Given the description of an element on the screen output the (x, y) to click on. 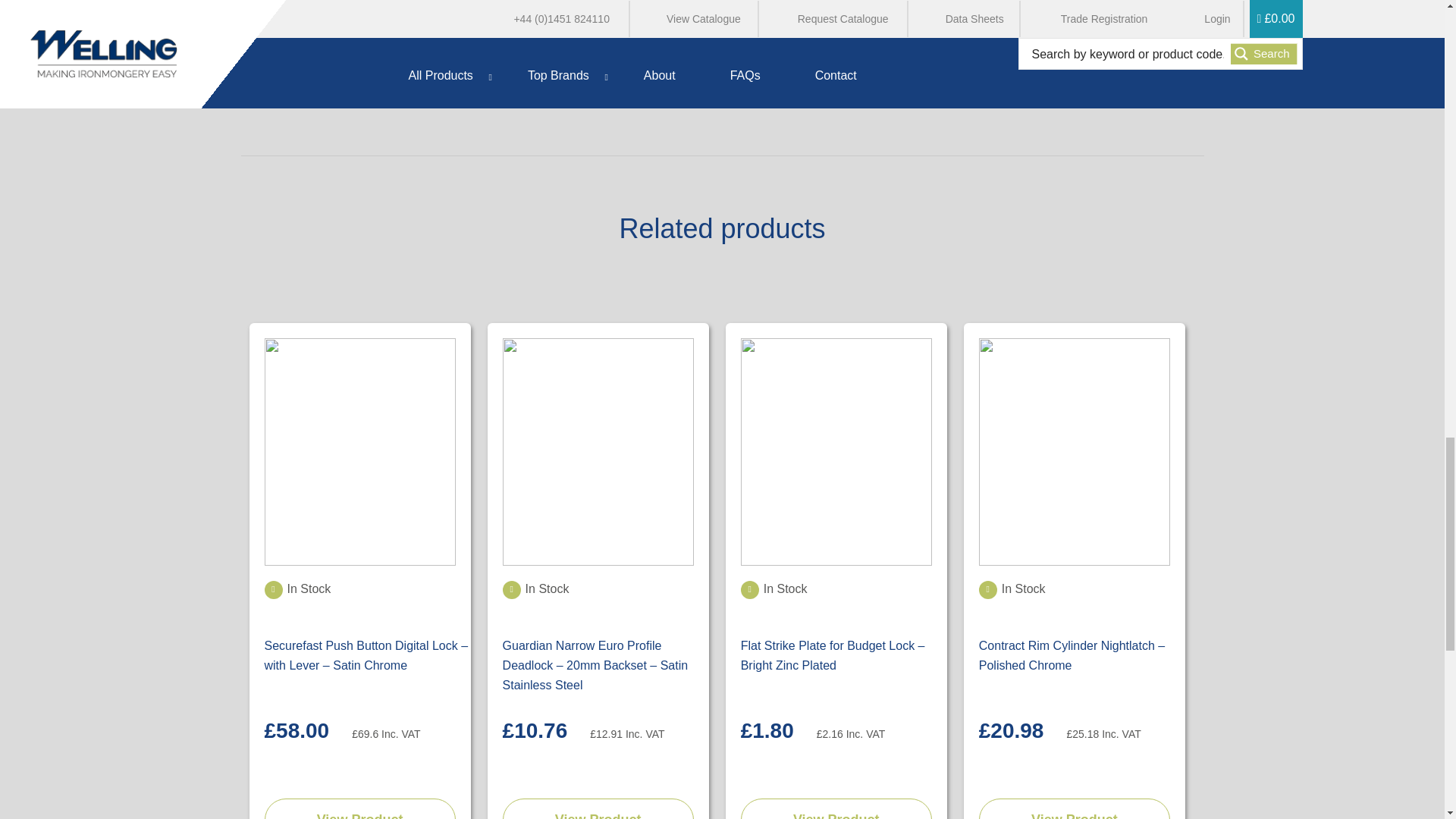
Submit (311, 35)
